Given the description of an element on the screen output the (x, y) to click on. 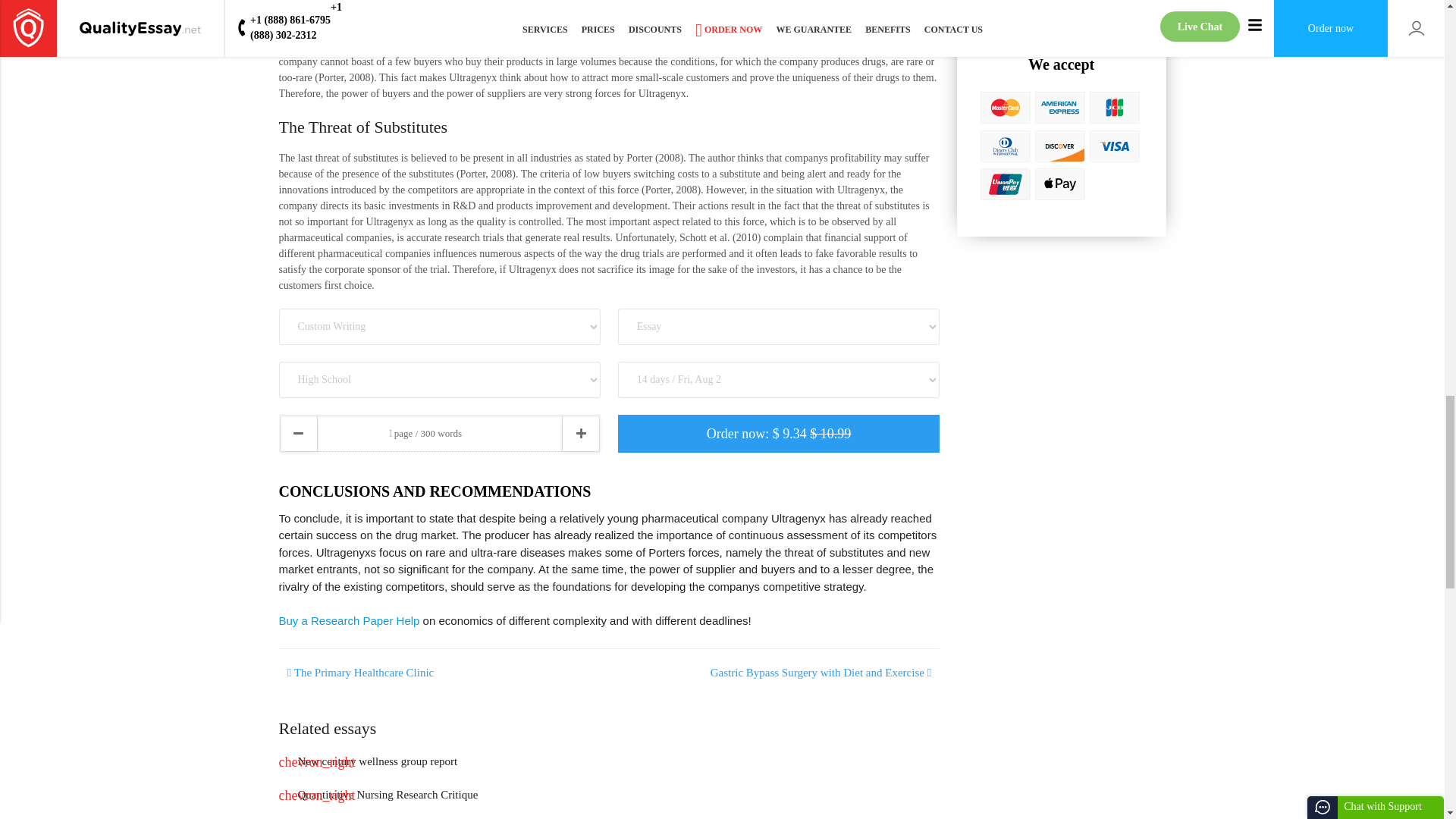
1 (439, 433)
